Given the description of an element on the screen output the (x, y) to click on. 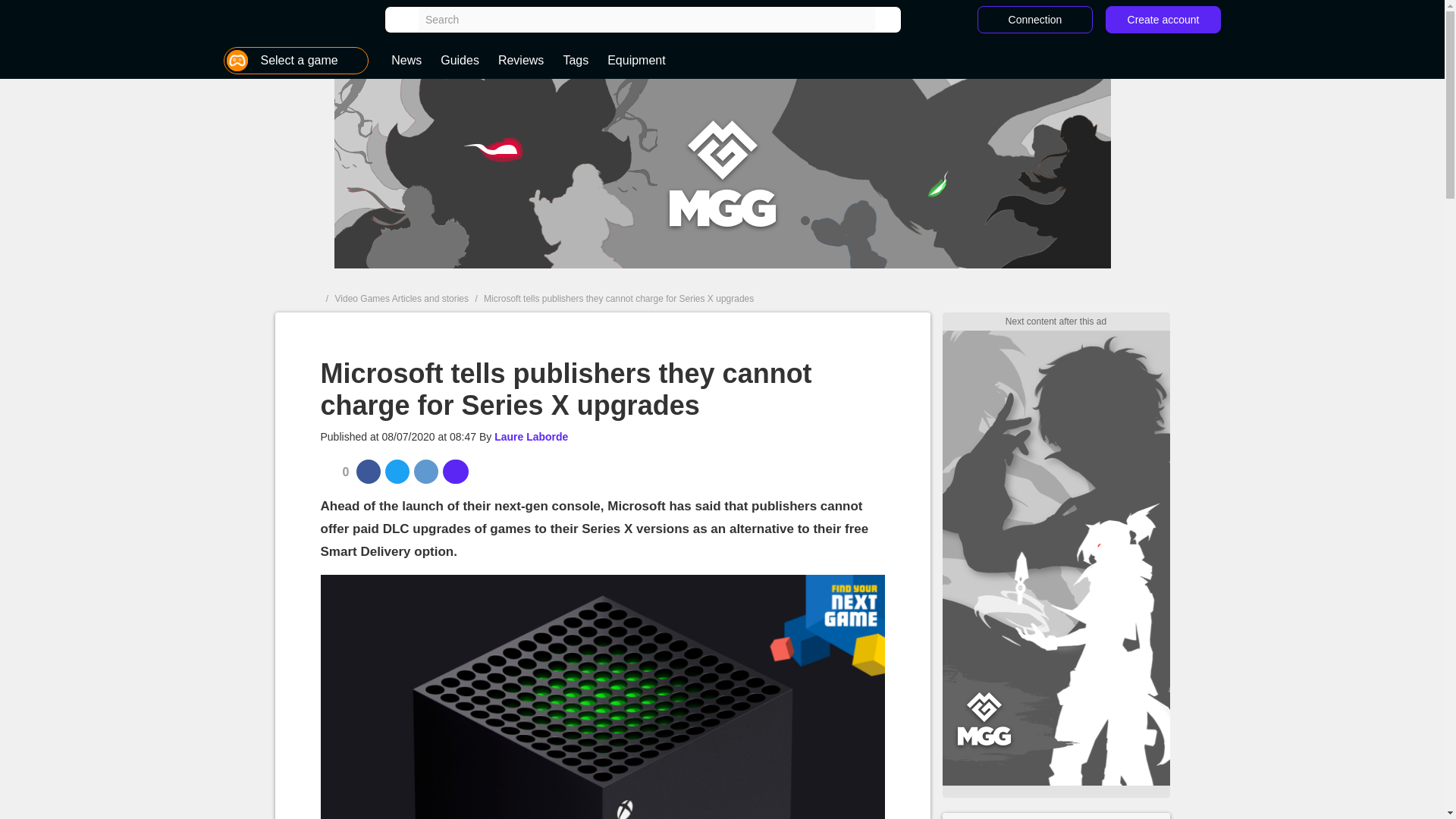
Guides (459, 61)
News (406, 61)
Reviews (520, 61)
Tags (574, 61)
Connection (1034, 19)
Select a game (296, 60)
Equipment (634, 61)
Create account (1163, 19)
